Given the description of an element on the screen output the (x, y) to click on. 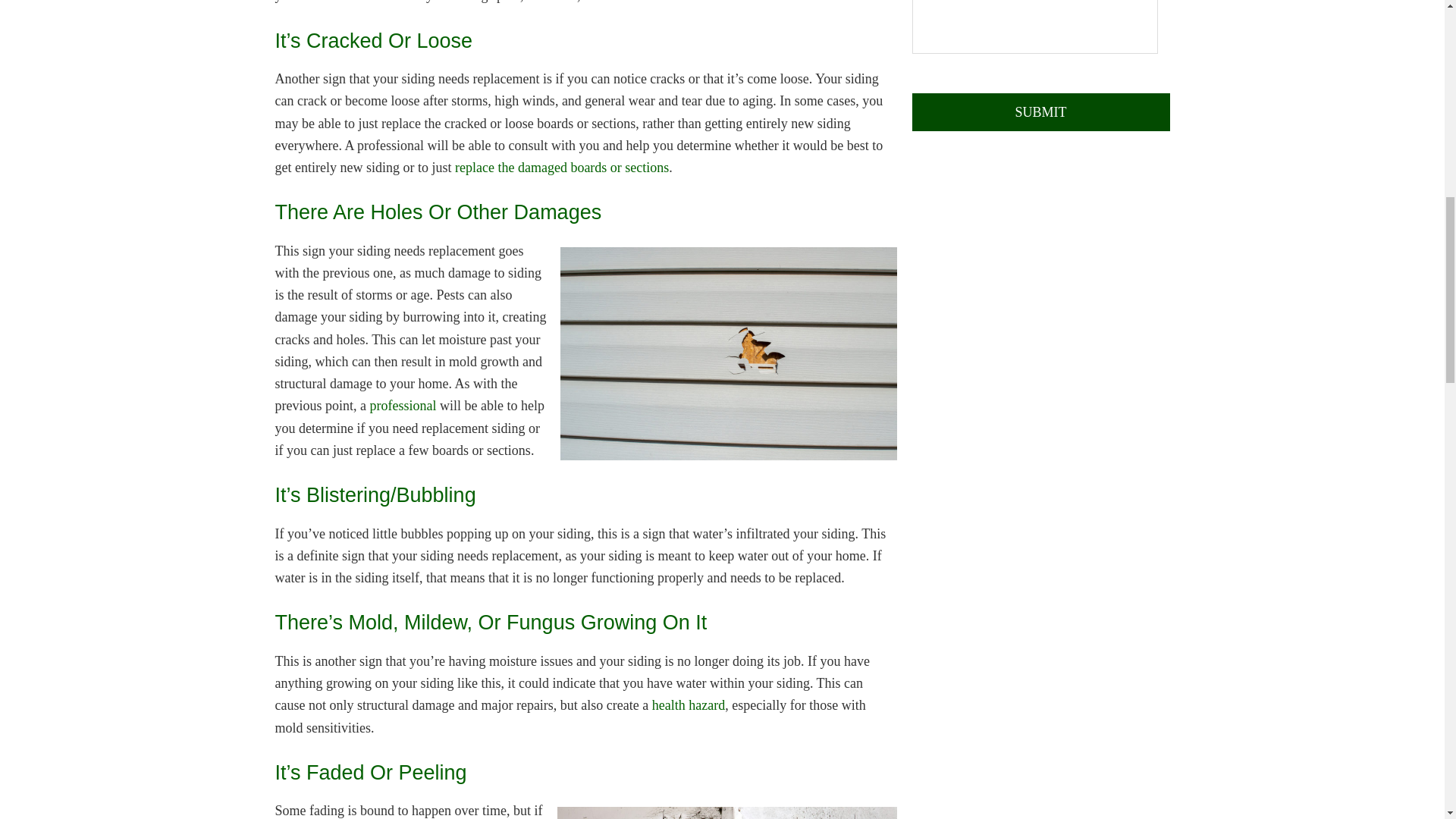
professional (402, 405)
Submit (1040, 112)
health hazard (688, 704)
How To Tell If Your Siding Needs Replacement (726, 812)
How To Tell If Your Siding Needs Replacement (727, 354)
Submit (1040, 112)
replace the damaged boards or sections (561, 167)
